Given the description of an element on the screen output the (x, y) to click on. 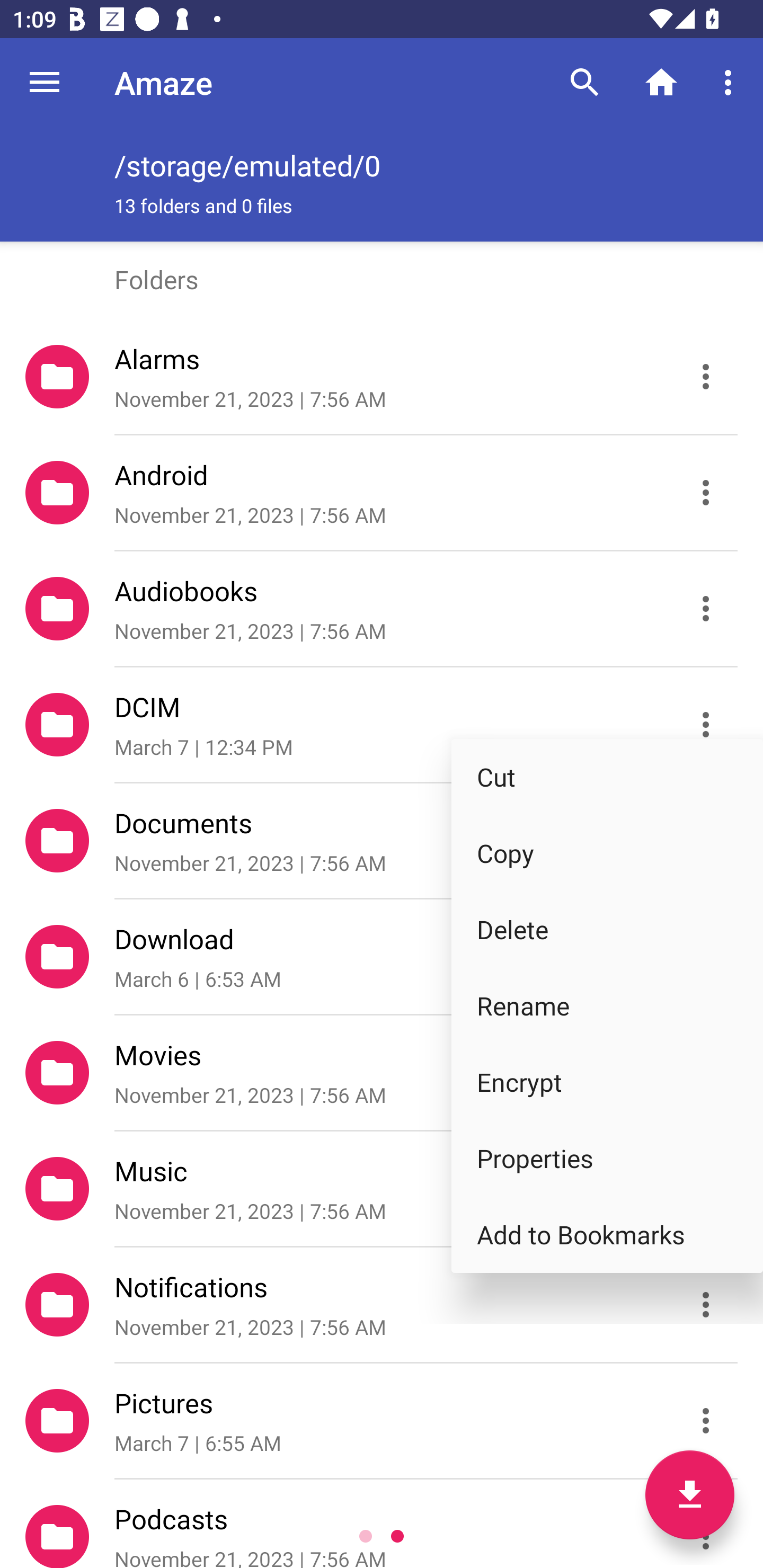
Navigate up (44, 82)
Search (585, 81)
Home (661, 81)
More options (731, 81)
Alarms November 21, 2023 | 7:56 AM (381, 376)
Android November 21, 2023 | 7:56 AM (381, 492)
Audiobooks November 21, 2023 | 7:56 AM (381, 608)
DCIM March 7 | 12:34 PM (381, 724)
Documents November 21, 2023 | 7:56 AM (381, 841)
Download March 6 | 6:53 AM (381, 957)
Movies November 21, 2023 | 7:56 AM (381, 1073)
Music November 21, 2023 | 7:56 AM (381, 1189)
Notifications November 21, 2023 | 7:56 AM (381, 1305)
Pictures March 7 | 6:55 AM (381, 1421)
Podcasts November 21, 2023 | 7:56 AM (381, 1524)
